Given the description of an element on the screen output the (x, y) to click on. 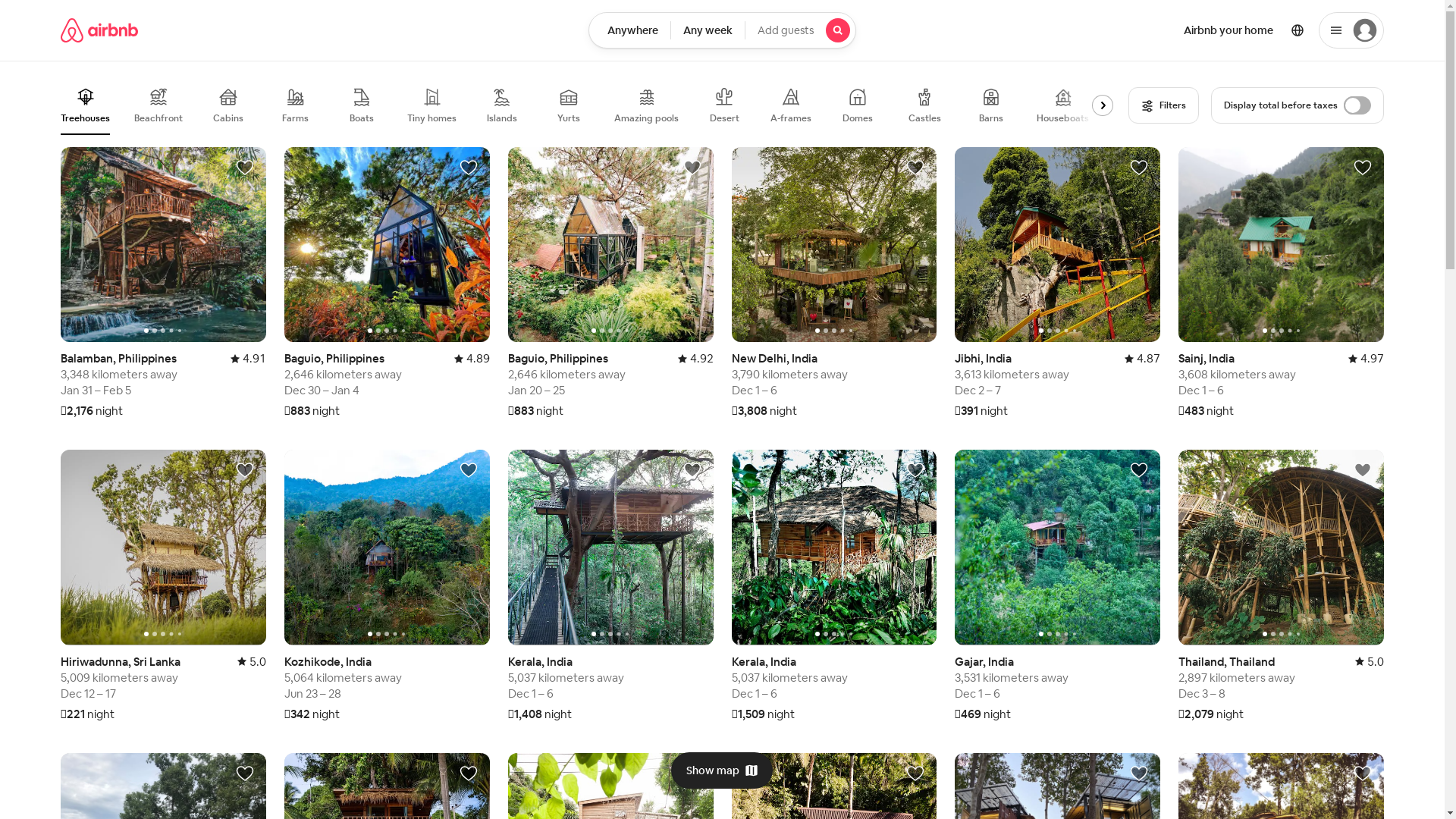
Location
Anywhere Element type: text (629, 30)
Airbnb your home Element type: text (1228, 30)
Check in / Check out
Any week Element type: text (707, 30)
Filters Element type: text (1163, 105)
Guests
Add guests Element type: text (800, 30)
Show map Element type: text (721, 770)
